Given the description of an element on the screen output the (x, y) to click on. 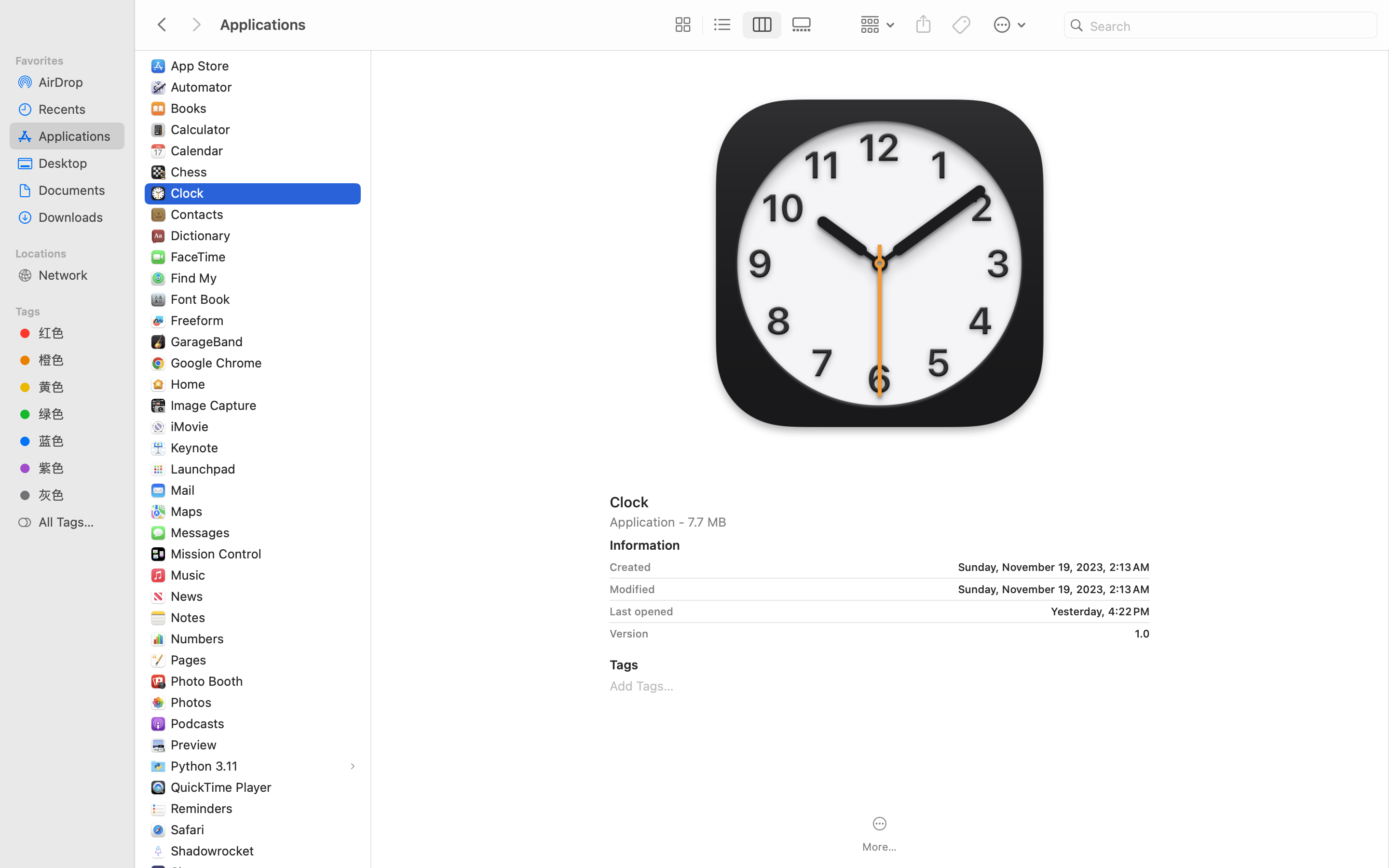
Created Element type: AXStaticText (630, 566)
Information Element type: AXStaticText (644, 544)
橙色 Element type: AXStaticText (77, 359)
Home Element type: AXTextField (189, 383)
Dictionary Element type: AXTextField (202, 235)
